Given the description of an element on the screen output the (x, y) to click on. 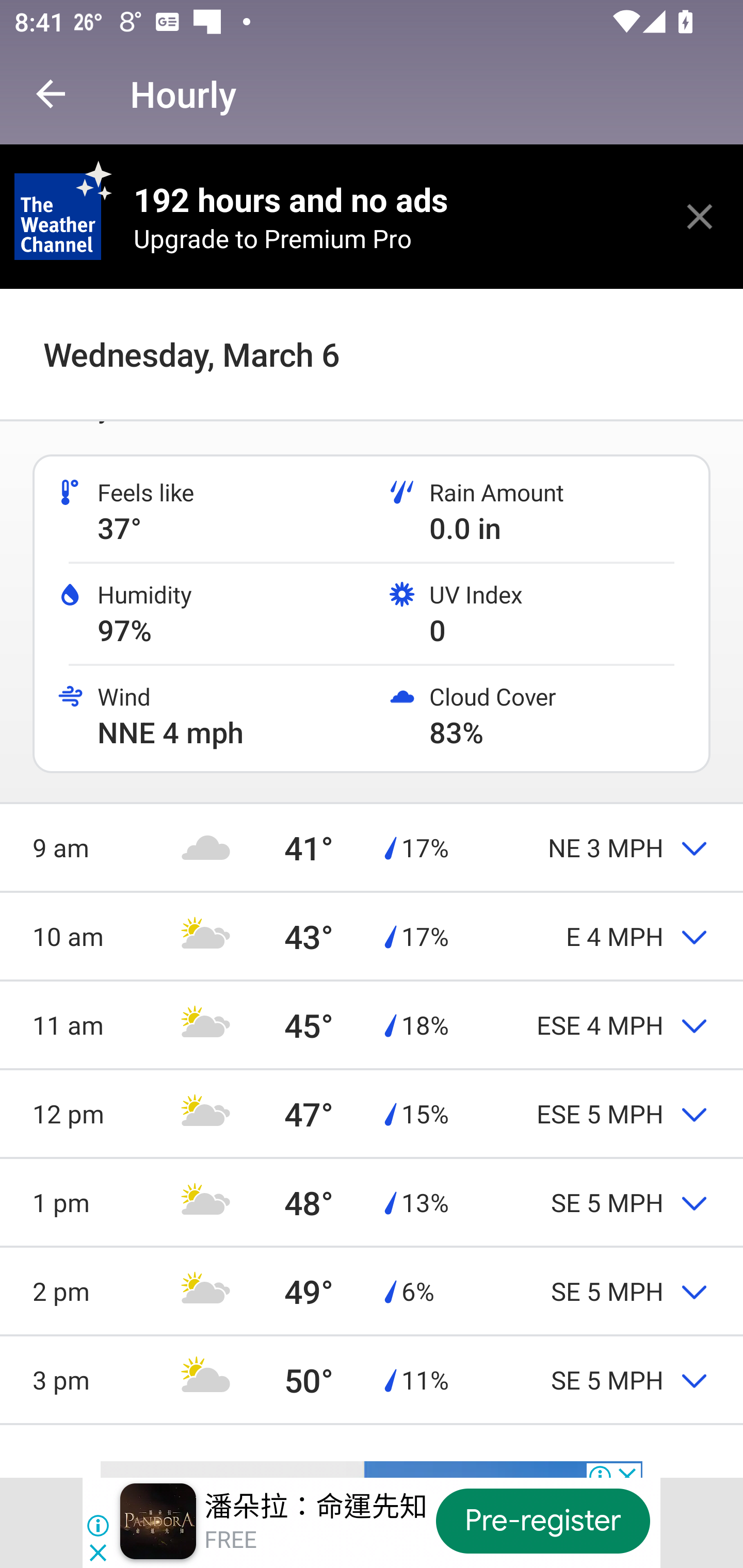
Navigate up (50, 93)
close this (699, 216)
8 am 40° 18% NNE 4 MPH (371, 348)
9 am 41° 17% NE 3 MPH (371, 847)
10 am 43° 17% E 4 MPH (371, 936)
11 am 45° 18% ESE 4 MPH (371, 1024)
12 pm 47° 15% ESE 5 MPH (371, 1113)
1 pm 48° 13% SE 5 MPH (371, 1201)
2 pm 49° 6% SE 5 MPH (371, 1291)
3 pm 50° 11% SE 5 MPH (371, 1379)
潘朵拉：命運先知 (316, 1506)
Pre-register (542, 1520)
FREE (230, 1540)
